Given the description of an element on the screen output the (x, y) to click on. 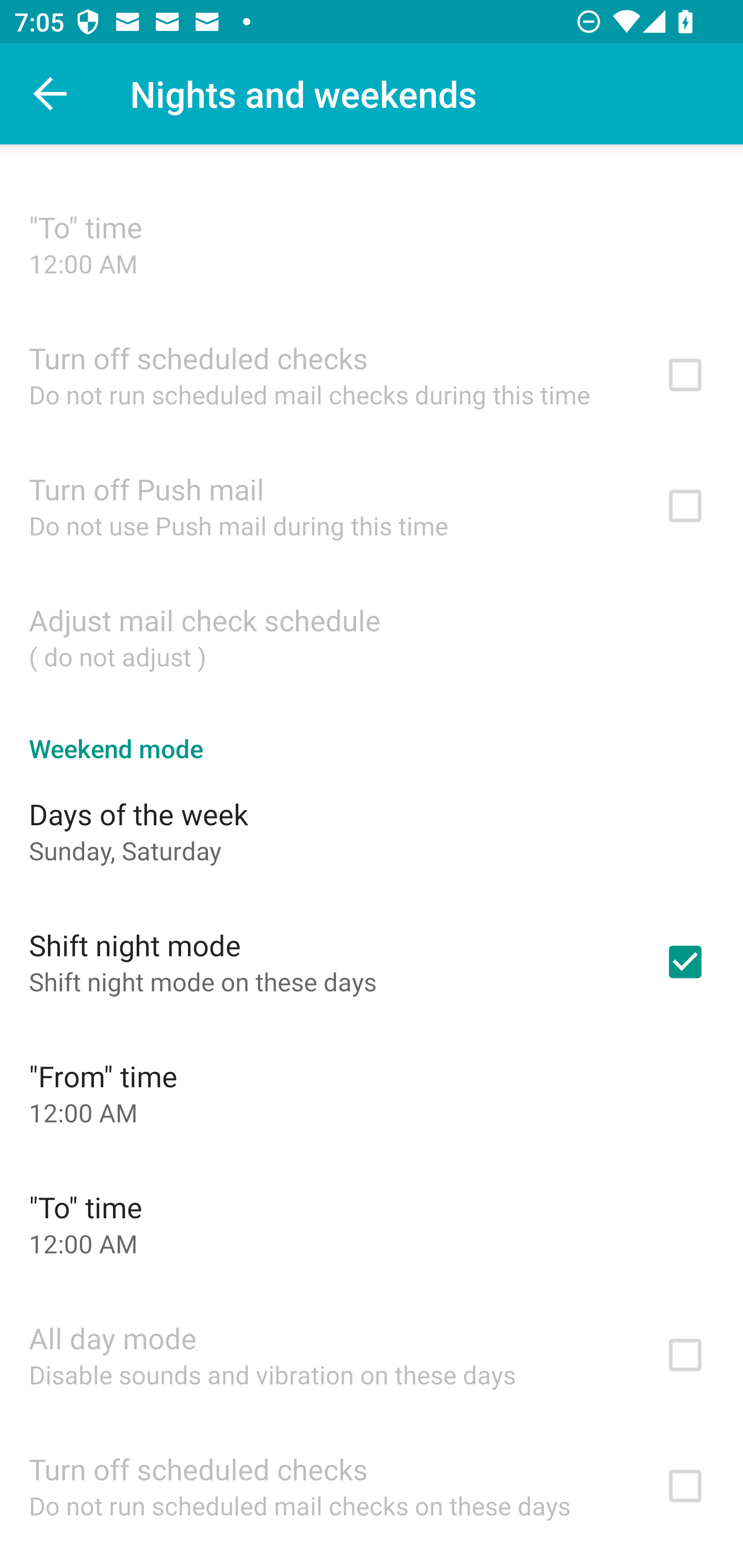
Navigate up (50, 93)
"To" time 12:00 AM (371, 243)
Adjust mail check schedule ( do not adjust ) (371, 636)
Days of the week Sunday, Saturday (371, 830)
Shift night mode Shift night mode on these days (371, 961)
"From" time 12:00 AM (371, 1092)
"To" time 12:00 AM (371, 1223)
